Given the description of an element on the screen output the (x, y) to click on. 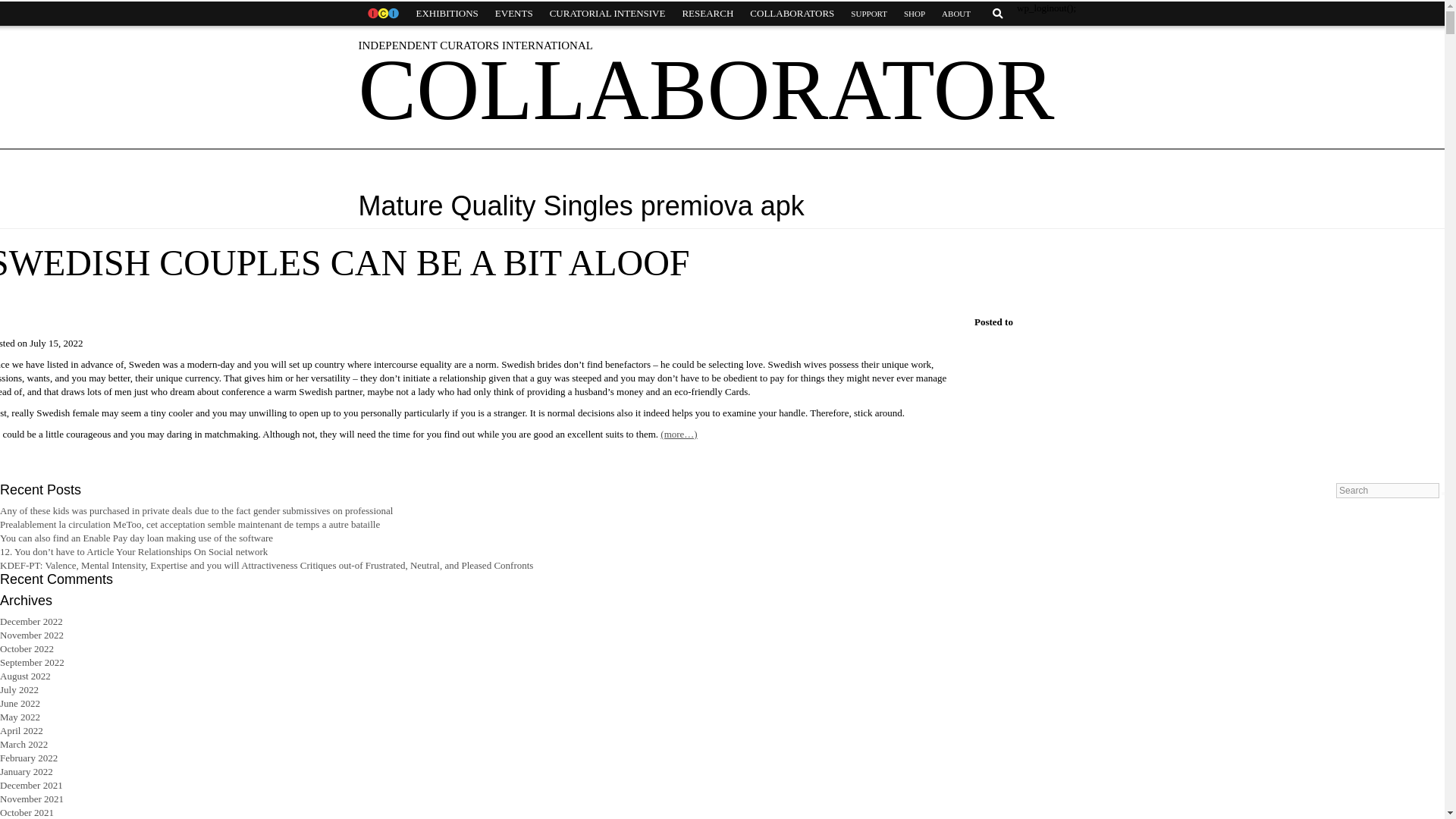
RESEARCH (706, 13)
HOME (382, 13)
COLLABORATORS (792, 13)
EXHIBITIONS (446, 13)
EVENTS (513, 13)
CURATORIAL INTENSIVE (607, 13)
